Given the description of an element on the screen output the (x, y) to click on. 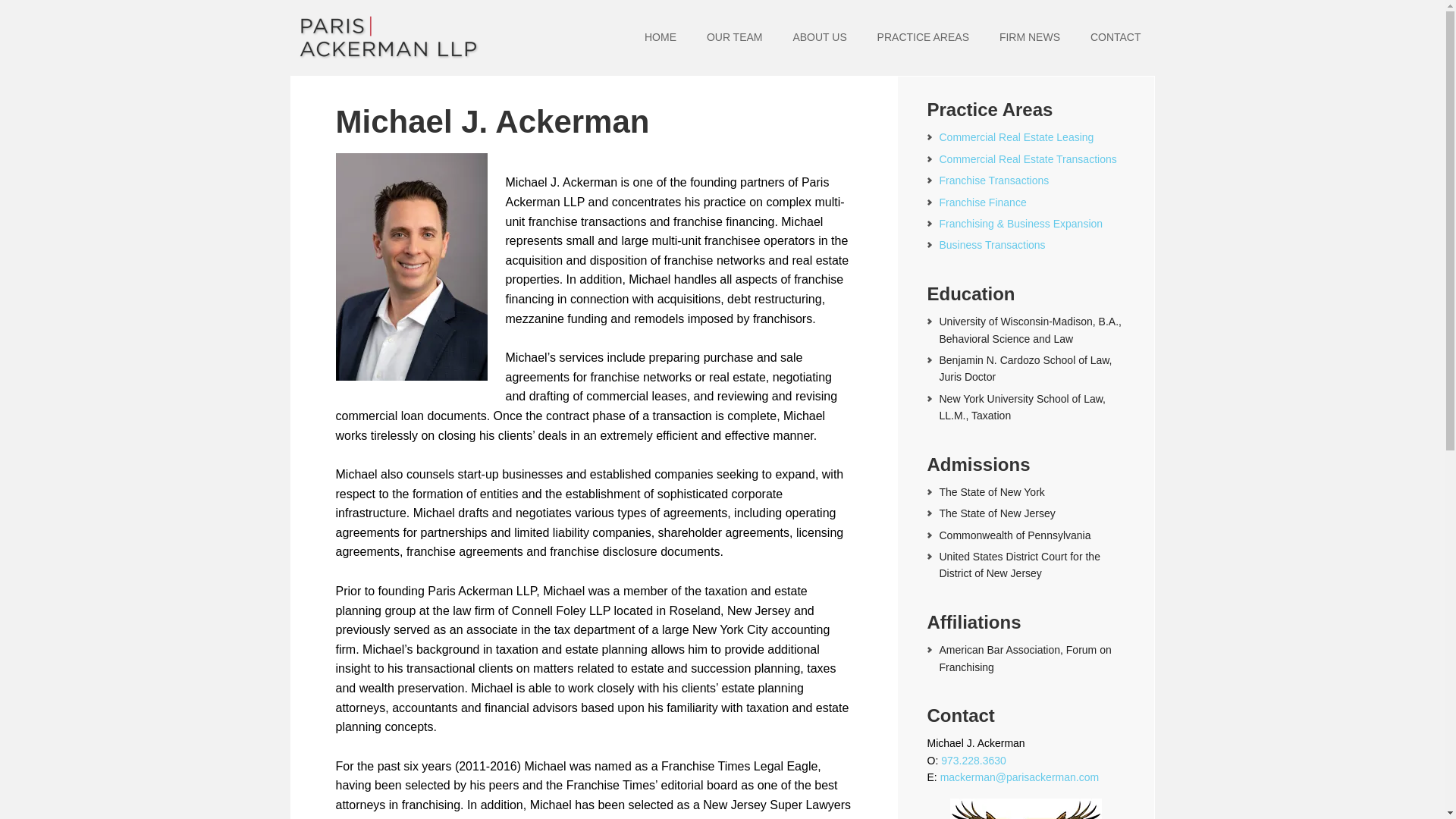
Business Transactions (992, 244)
Franchise Finance (982, 202)
PRACTICE AREAS (922, 38)
Paris Ackerman LLP (387, 38)
OUR TEAM (734, 38)
FIRM NEWS (1029, 38)
Commercial Real Estate Transactions (1027, 159)
Franchise Transactions (993, 180)
973.228.3630 (973, 760)
Commercial Real Estate Leasing (1016, 137)
ABOUT US (819, 38)
CONTACT (1115, 38)
